Given the description of an element on the screen output the (x, y) to click on. 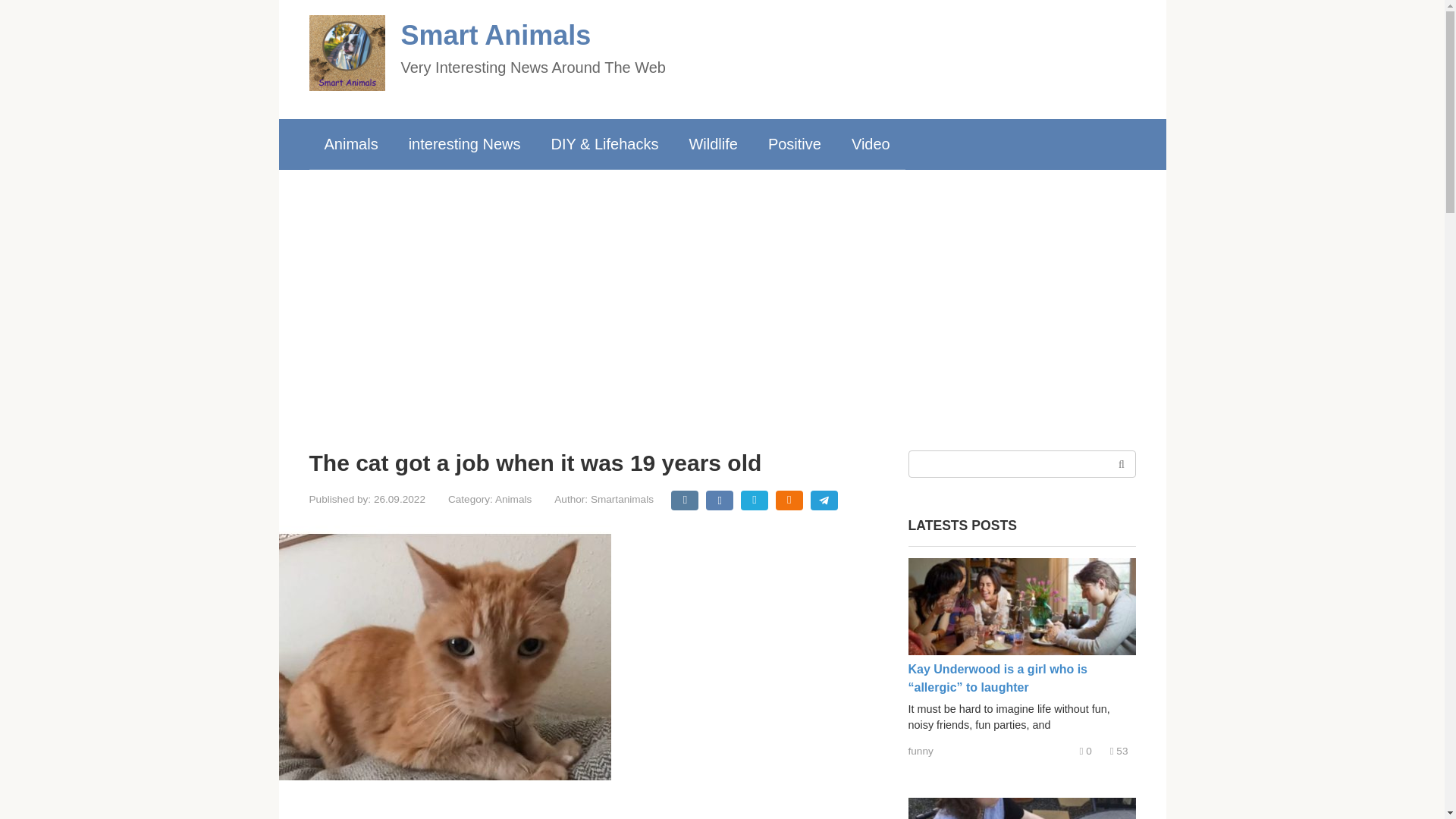
funny (920, 750)
interesting News (464, 143)
Animals (513, 499)
Smart Animals (495, 34)
Video (870, 143)
Animals (350, 143)
Positive (793, 143)
Wildlife (712, 143)
